Given the description of an element on the screen output the (x, y) to click on. 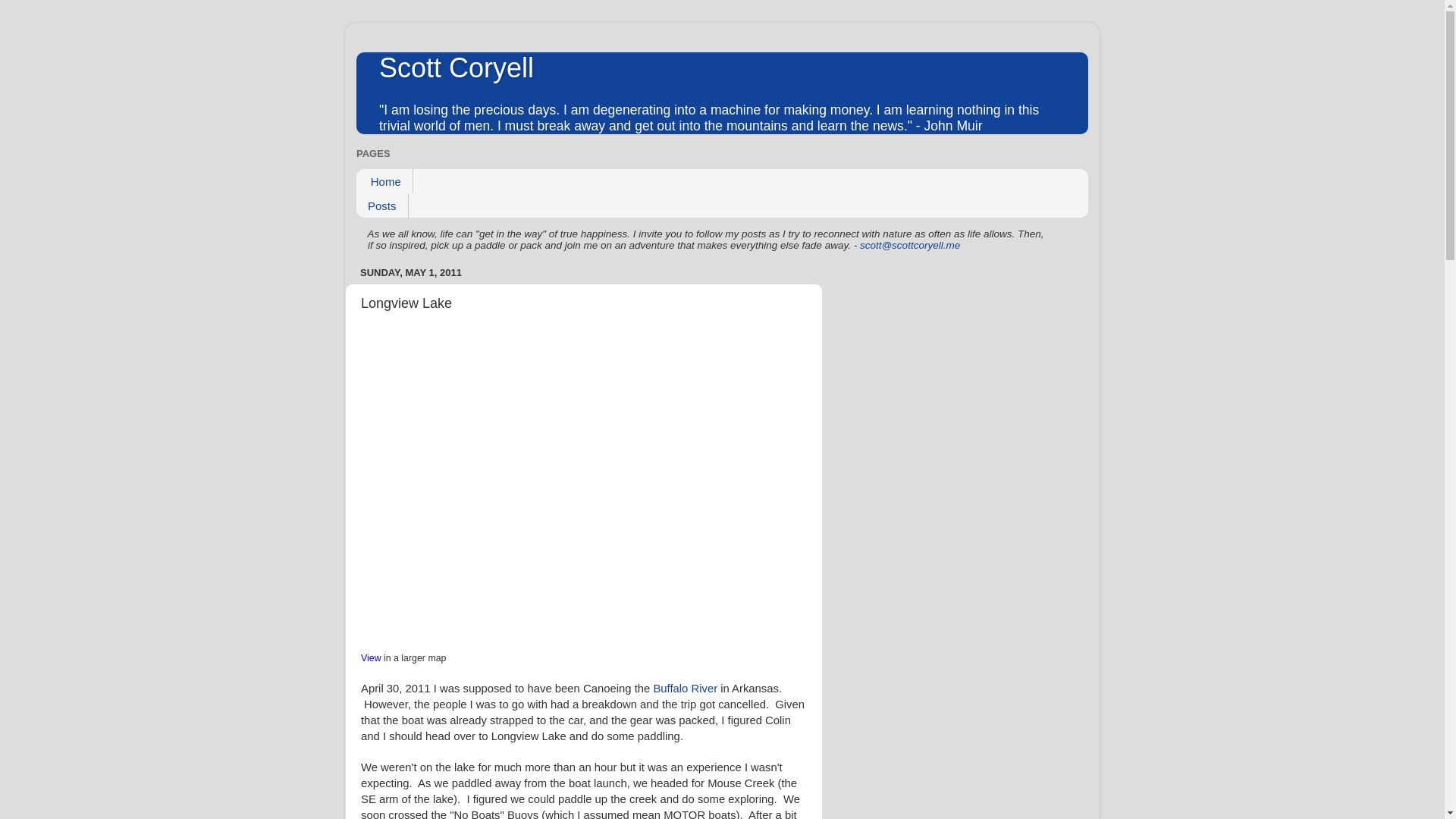
View (371, 657)
Buffalo River (684, 688)
Posts (382, 205)
Home (384, 180)
Scott Coryell (456, 67)
